Given the description of an element on the screen output the (x, y) to click on. 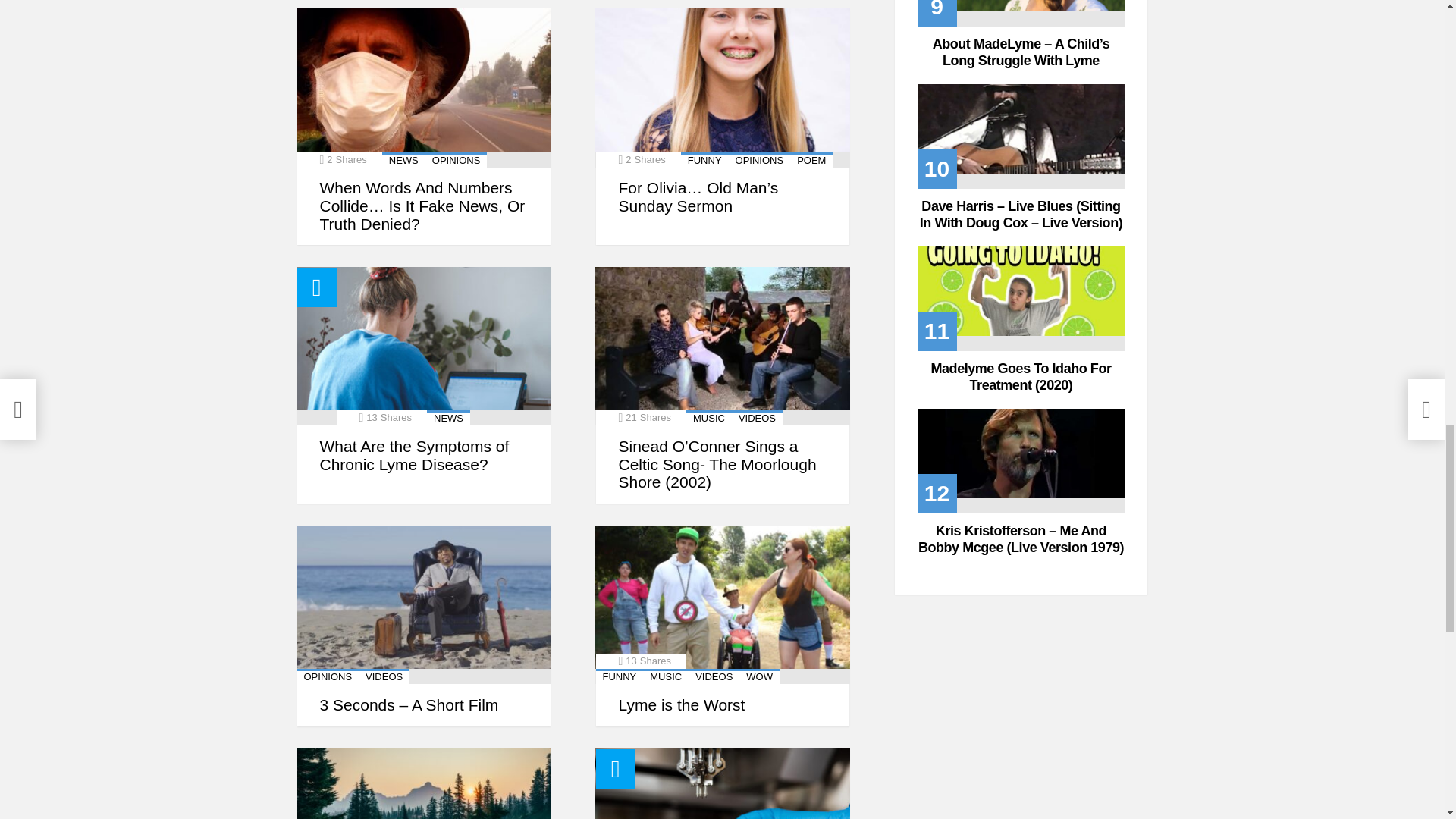
What Are the Symptoms of Chronic Lyme Disease? (422, 345)
